Given the description of an element on the screen output the (x, y) to click on. 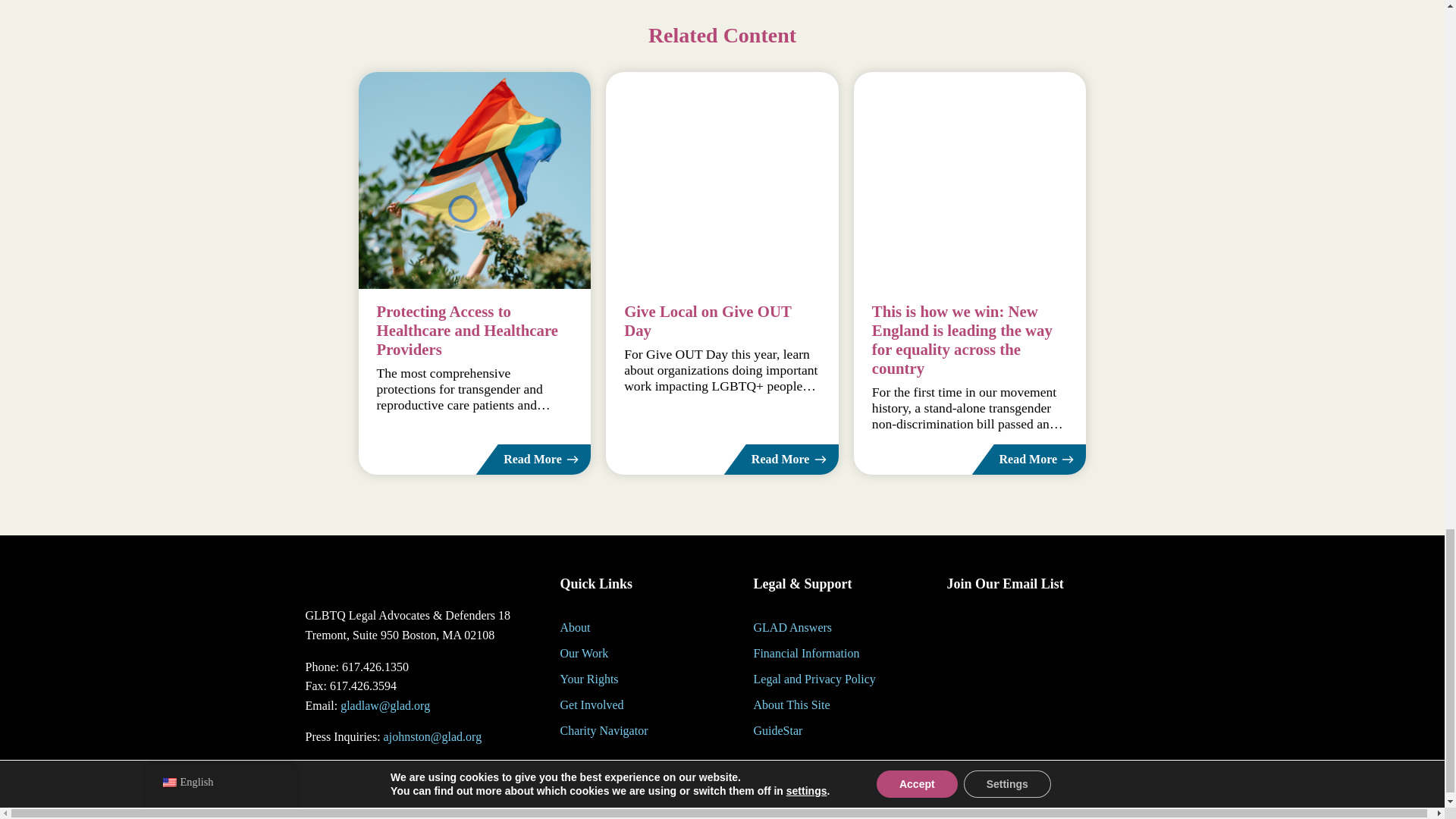
Join Our Email List (1036, 665)
Give Local on Give OUT Day (721, 180)
Protecting Access to Healthcare and Healthcare Providers (474, 180)
